Given the description of an element on the screen output the (x, y) to click on. 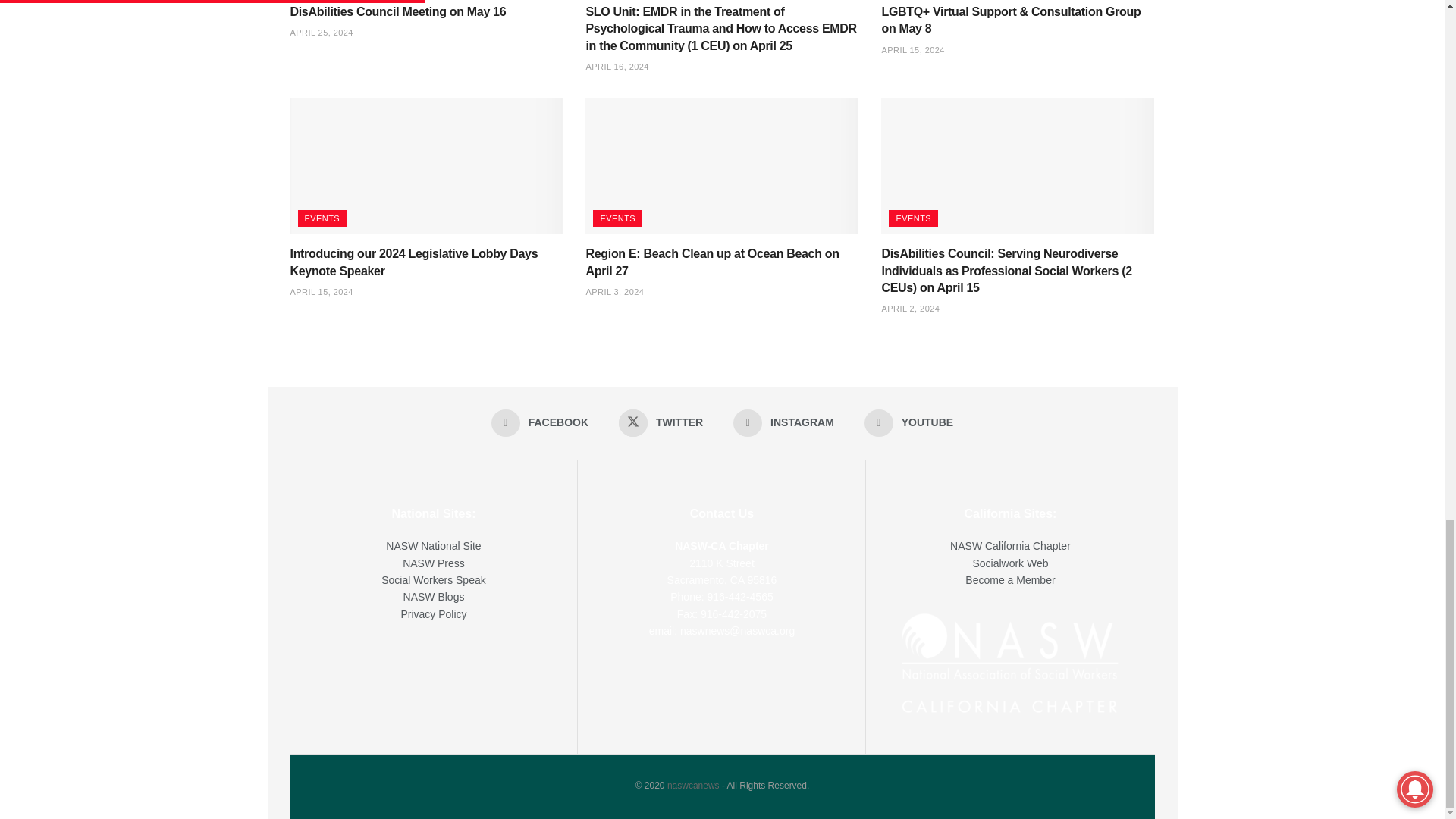
NASWCANEWS (692, 785)
